Given the description of an element on the screen output the (x, y) to click on. 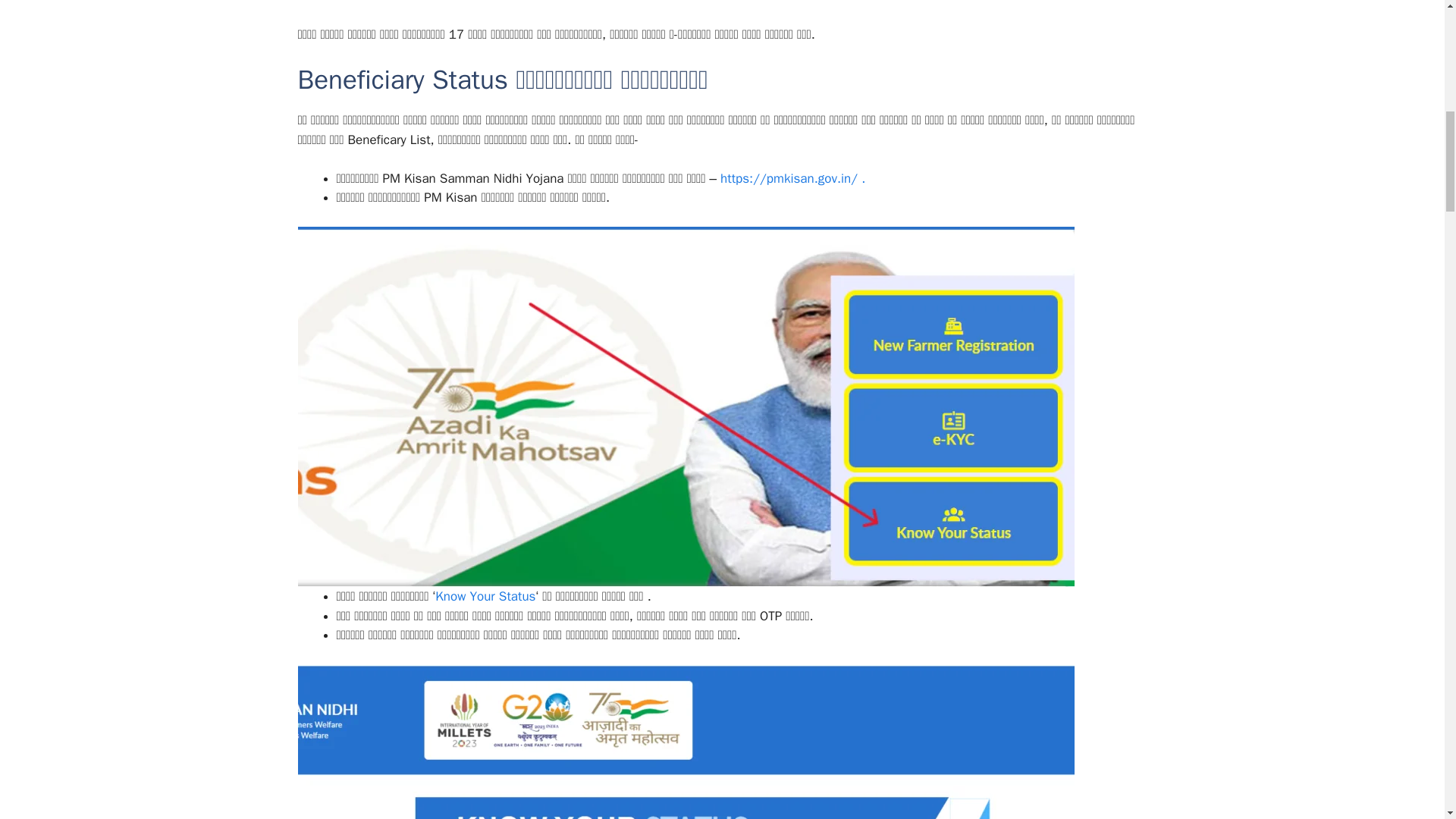
Know Your Status (485, 596)
